Given the description of an element on the screen output the (x, y) to click on. 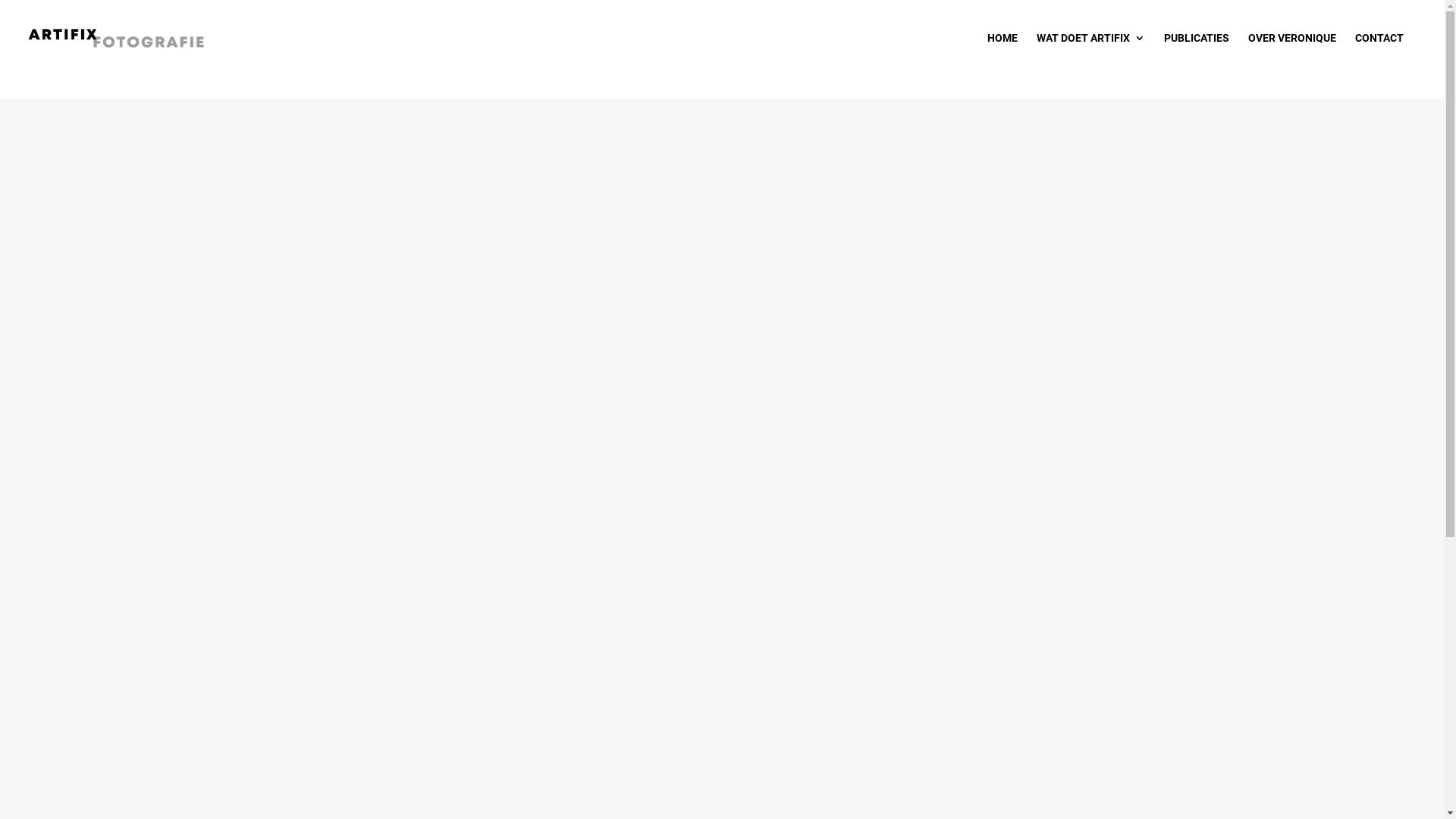
PUBLICATIES Element type: text (1196, 50)
WAT DOET ARTIFIX Element type: text (1090, 50)
CONTACT Element type: text (1379, 50)
OVER VERONIQUE Element type: text (1292, 50)
HOME Element type: text (1002, 50)
